Given the description of an element on the screen output the (x, y) to click on. 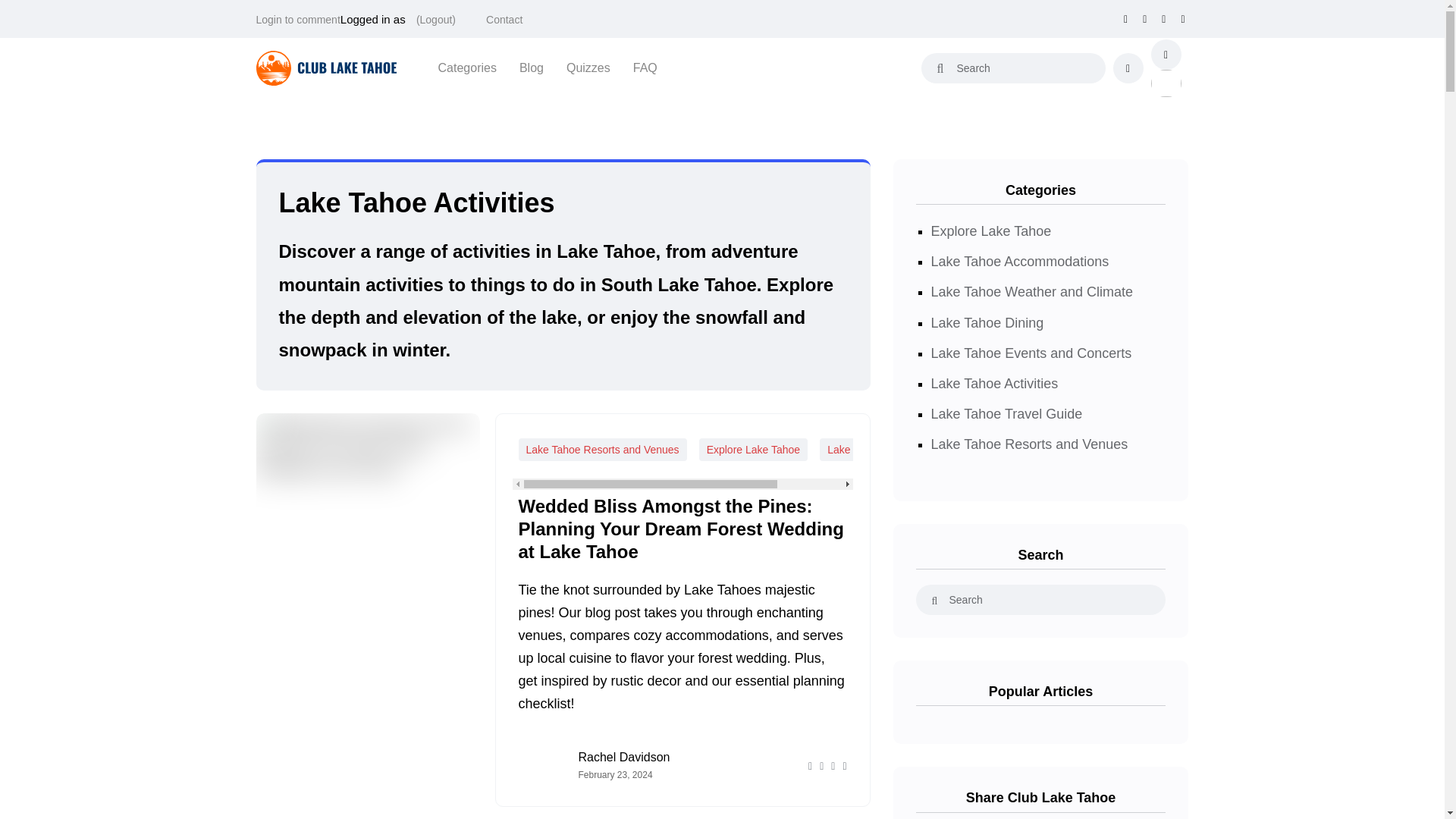
Login to comment (298, 19)
Categories (467, 67)
Contact (504, 19)
